Given the description of an element on the screen output the (x, y) to click on. 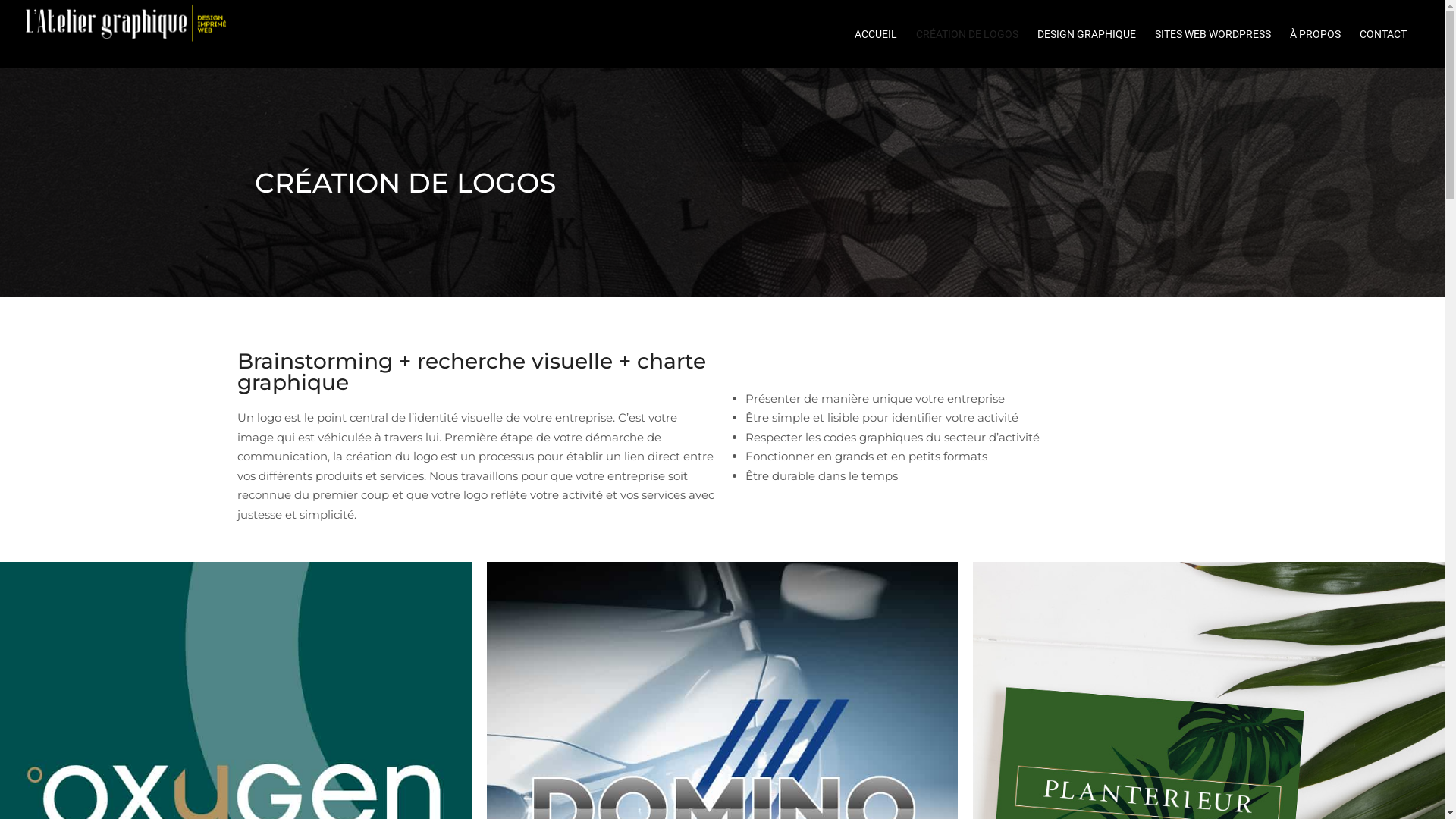
CONTACT Element type: text (1390, 33)
DESIGN GRAPHIQUE Element type: text (1094, 33)
SITES WEB WORDPRESS Element type: text (1220, 33)
ACCUEIL Element type: text (883, 33)
